Given the description of an element on the screen output the (x, y) to click on. 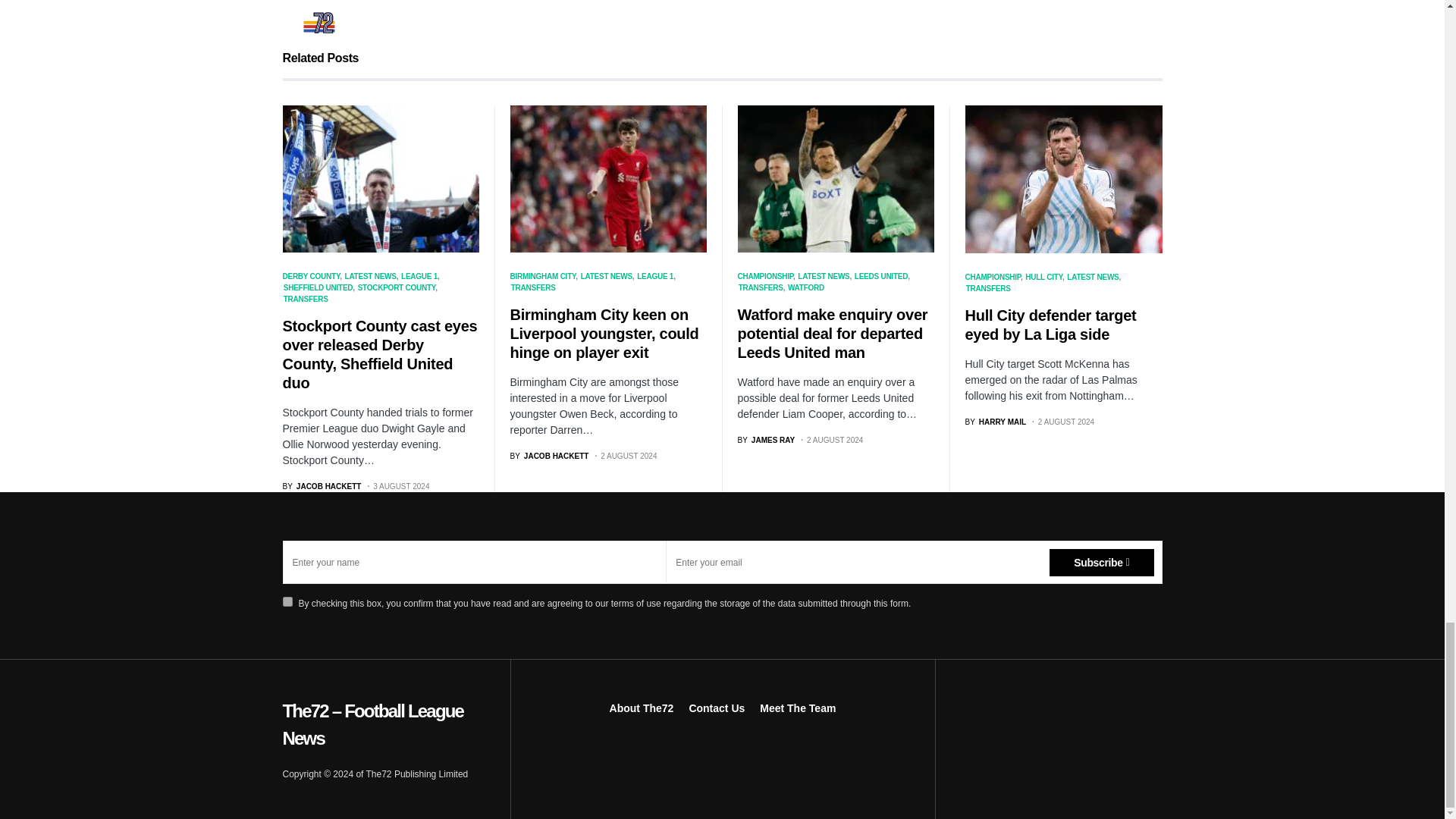
View all posts by James Ray (401, 1)
View all posts by Jacob Hackett (321, 486)
on (287, 601)
View all posts by Jacob Hackett (548, 455)
View all posts by James Ray (765, 439)
View all posts by Harry Mail (994, 421)
